Given the description of an element on the screen output the (x, y) to click on. 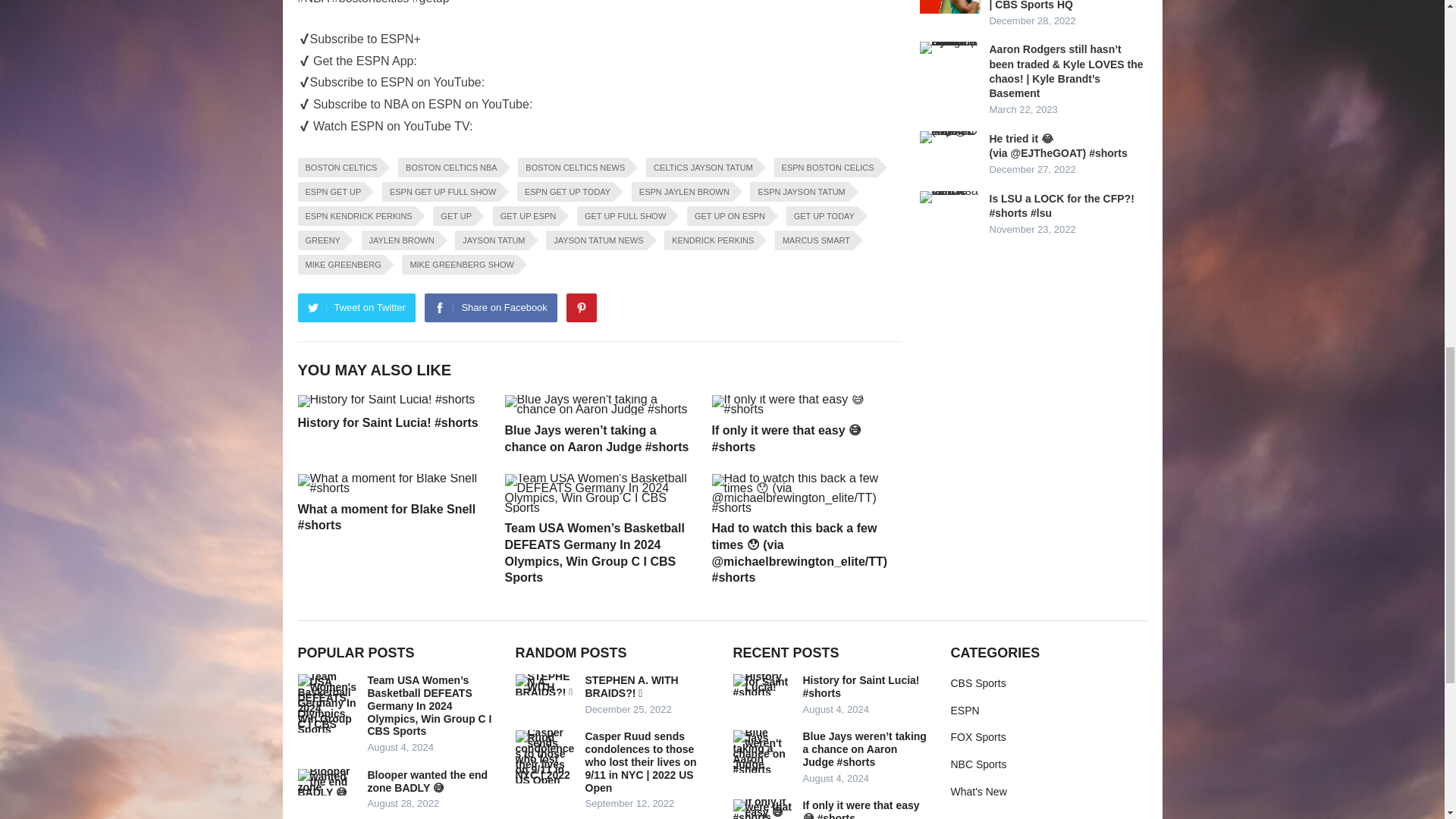
ESPN BOSTON CELICS (825, 167)
BOSTON CELTICS NBA (448, 167)
BOSTON CELTICS (338, 167)
ESPN GET UP (330, 191)
BOSTON CELTICS NEWS (572, 167)
CELTICS JAYSON TATUM (700, 167)
